Given the description of an element on the screen output the (x, y) to click on. 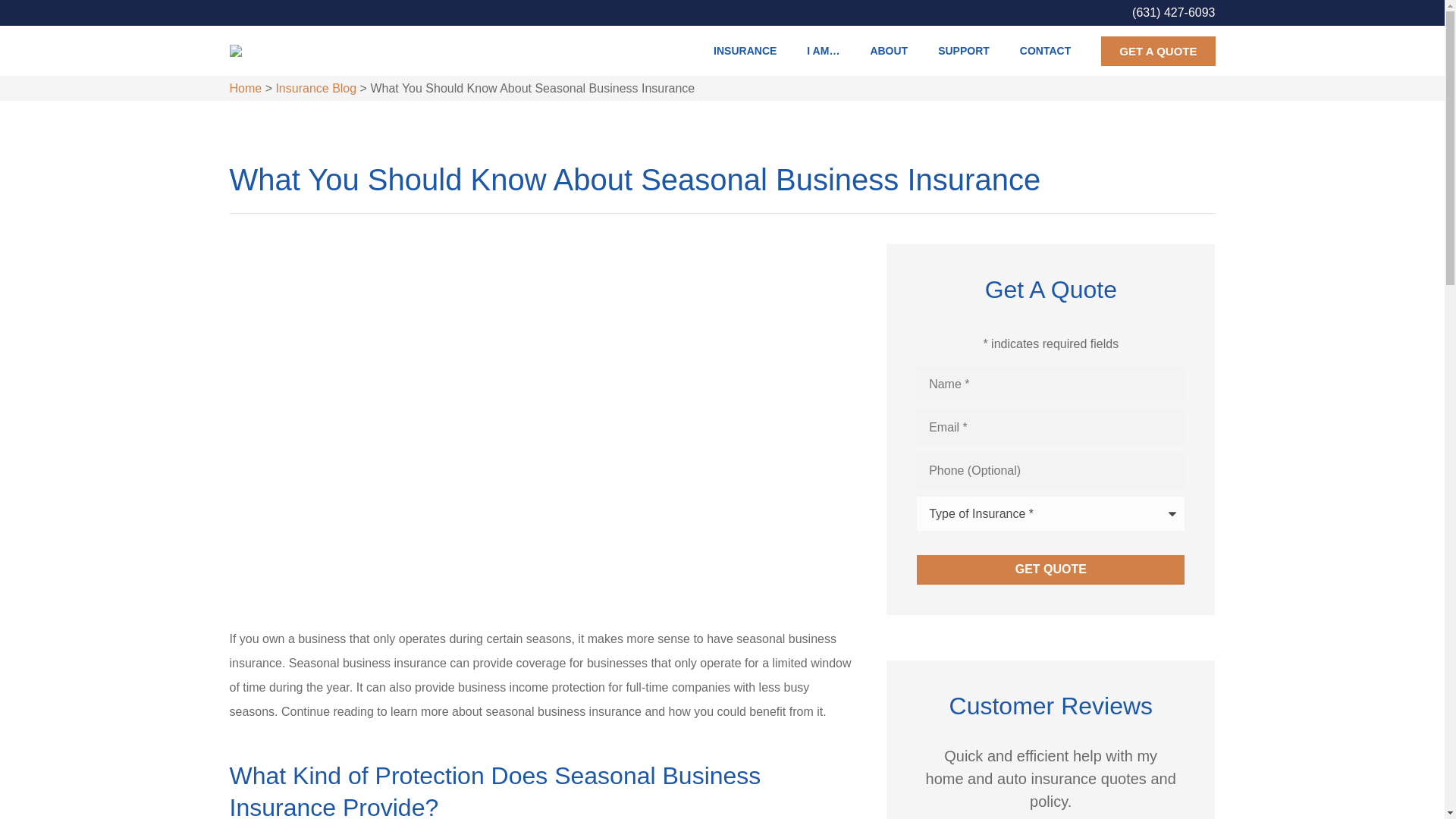
SUPPORT (963, 50)
Get Quote (1051, 569)
ABOUT (888, 50)
INSURANCE (745, 50)
